Given the description of an element on the screen output the (x, y) to click on. 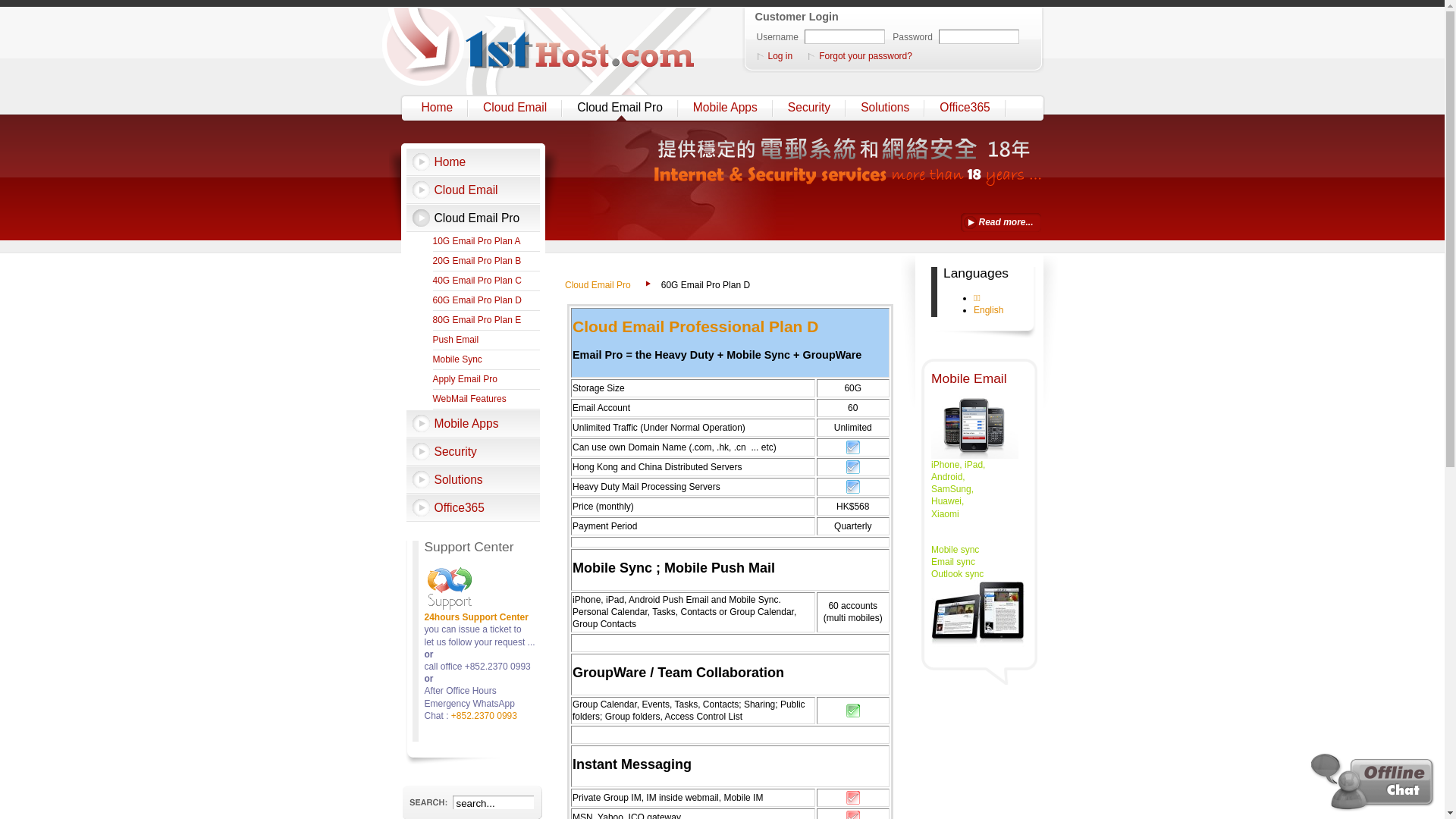
iPhone, iPad,
Android,
SamSung,
Huawei,
Xiaomi Element type: text (958, 489)
Mobile Apps Element type: text (473, 423)
20G Email Pro Plan B Element type: text (485, 261)
Mobile Apps Element type: text (726, 108)
Solutions Element type: text (473, 479)
Cloud Email Element type: text (473, 189)
Cloud Email Pro Element type: text (473, 217)
Mobile Sync Element type: text (485, 360)
Mobile sync
Email sync
Outlook sync Element type: text (957, 568)
24hours Support Center Element type: text (476, 616)
Apply Email Pro Element type: text (485, 379)
Push Email Element type: text (485, 340)
Cloud Email Pro Element type: text (605, 284)
Log in Element type: text (778, 56)
Home Element type: text (438, 108)
WebMail Features Element type: text (485, 399)
Read more... Element type: text (1000, 222)
Office365 Element type: text (473, 507)
Forgot your password? Element type: text (863, 56)
40G Email Pro Plan C Element type: text (485, 281)
Cloud Email Professional Plan D Element type: text (695, 326)
Security Element type: text (810, 108)
Cloud Email Element type: text (516, 108)
Cloud Email Pro Element type: text (621, 108)
Home Element type: text (473, 161)
Office365 Element type: text (965, 108)
80G Email Pro Plan E Element type: text (485, 320)
60G Email Pro Plan D Element type: text (485, 300)
Solutions Element type: text (886, 108)
English Element type: text (988, 309)
10G Email Pro Plan A Element type: text (485, 241)
+852.2370 0993 Element type: text (484, 715)
Security Element type: text (473, 451)
